Given the description of an element on the screen output the (x, y) to click on. 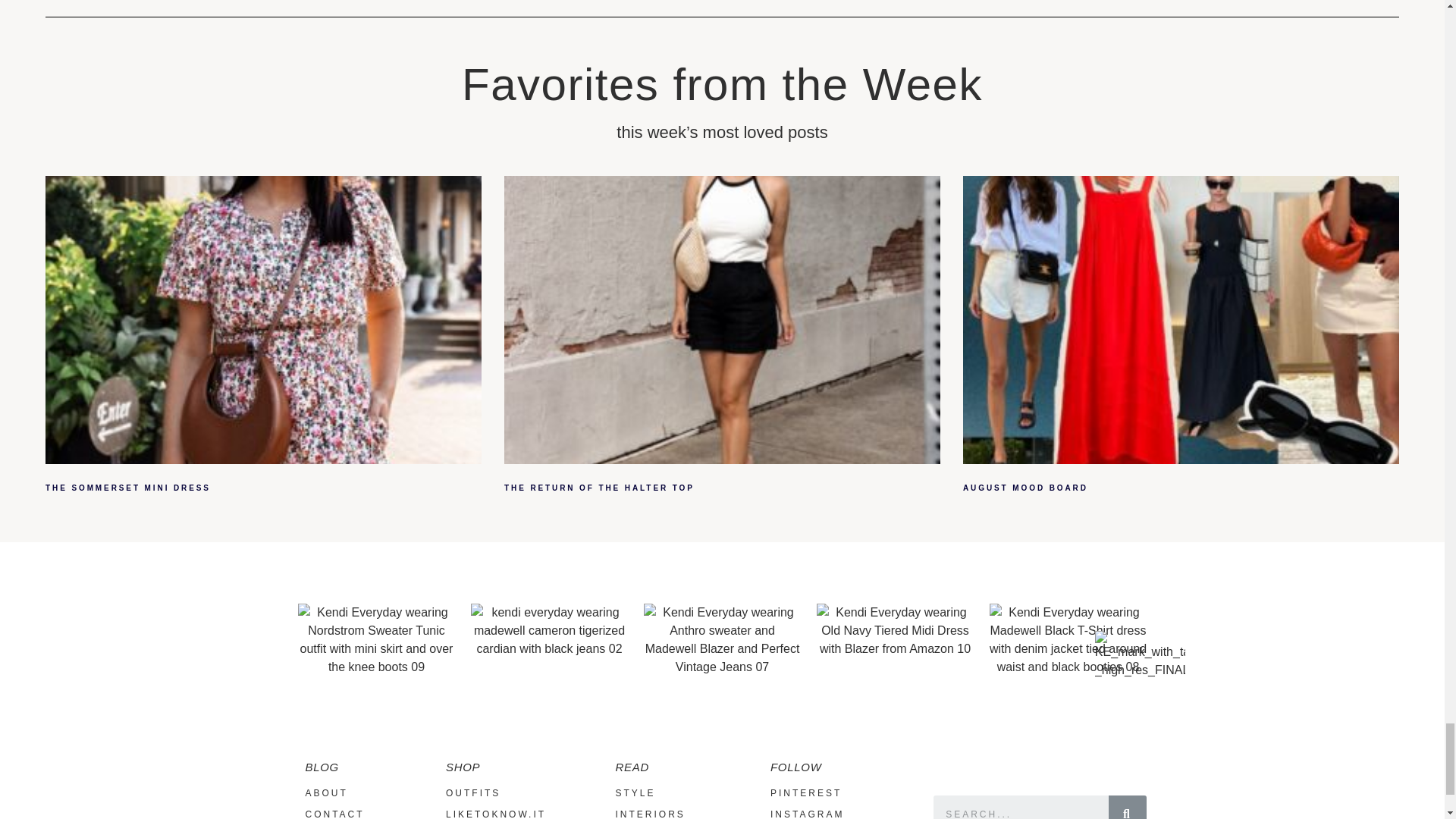
Search (1020, 807)
Search (1127, 807)
